Given the description of an element on the screen output the (x, y) to click on. 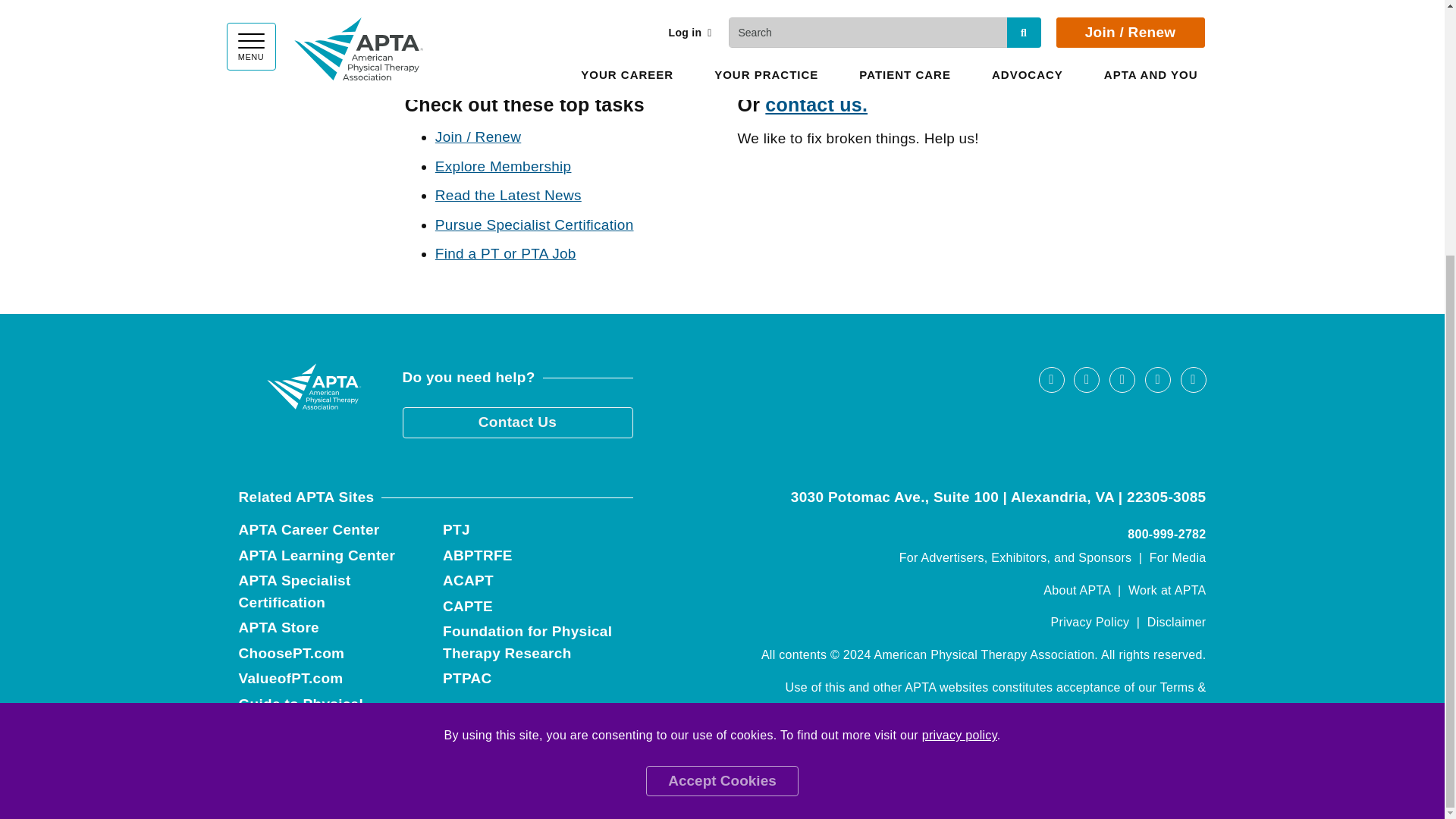
Work at APTA (1167, 590)
privacy policy (959, 373)
Contact APTA (816, 104)
